Given the description of an element on the screen output the (x, y) to click on. 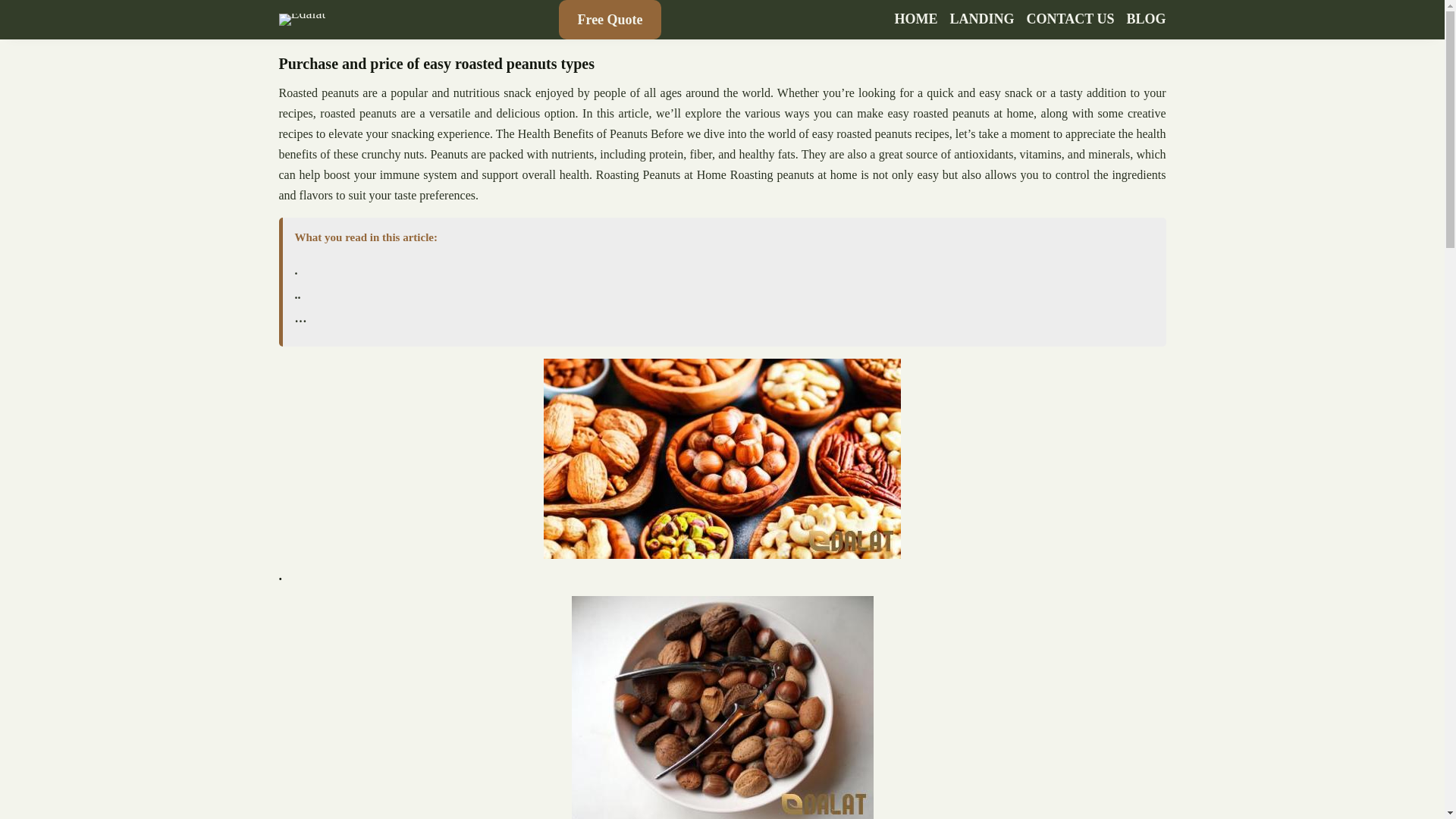
HOME (916, 19)
BLOG (1145, 19)
LANDING (982, 19)
Free Quote (610, 19)
CONTACT US (1070, 19)
